Given the description of an element on the screen output the (x, y) to click on. 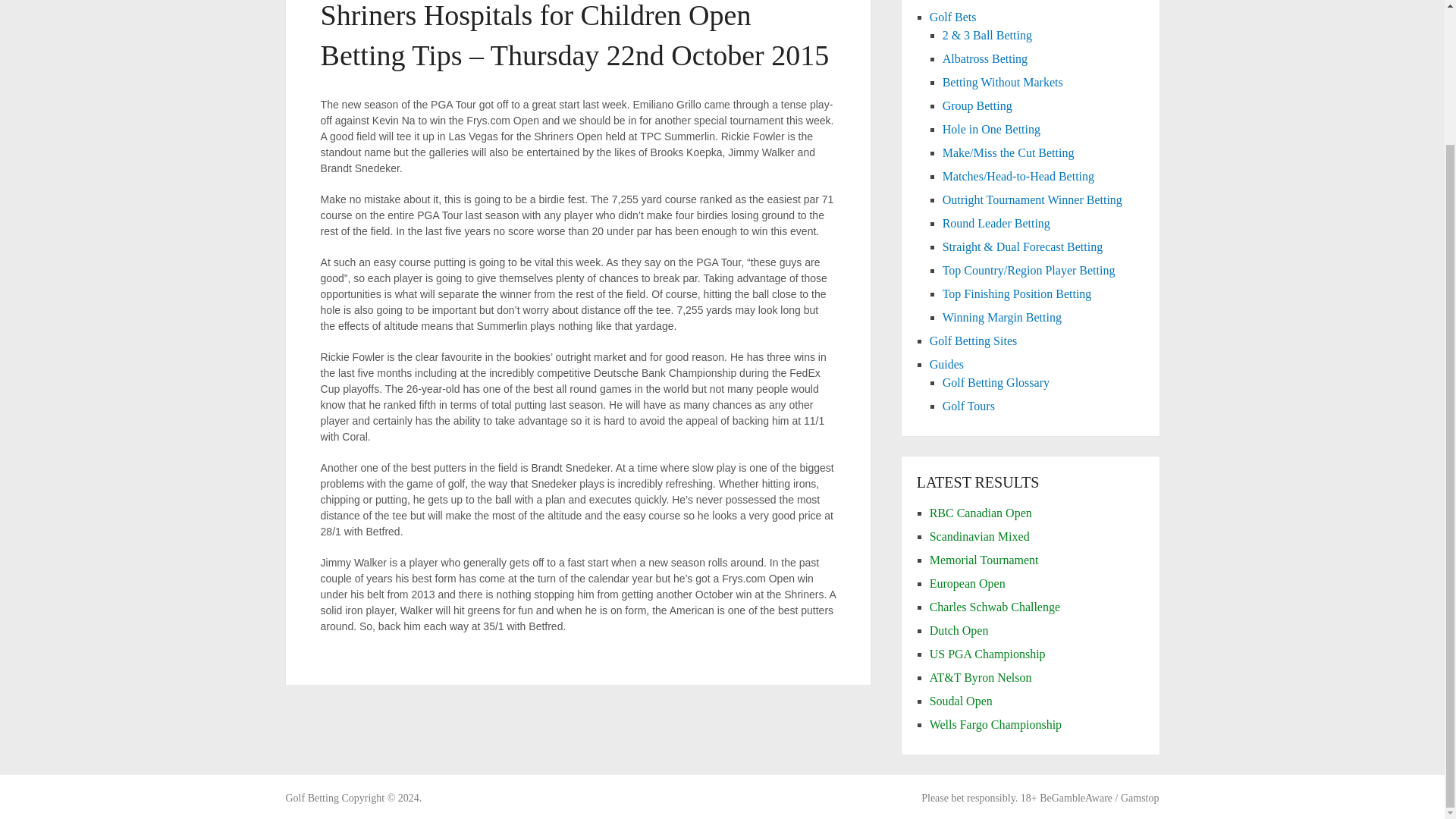
Golf Tours (968, 405)
How to Bet on Golf Online (311, 797)
Round Leader Betting (995, 223)
Scandinavian Mixed (979, 535)
BeGambleAware (1075, 797)
Outright Tournament Winner Betting (1032, 199)
Golf Bets (953, 16)
Golf Betting Sites (973, 340)
Gamstop (1139, 797)
Group Betting (976, 105)
US PGA Championship (987, 653)
Top Finishing Position Betting (1017, 293)
Golf Betting Glossary (995, 382)
Golf Betting (311, 797)
Wells Fargo Championship (995, 724)
